Given the description of an element on the screen output the (x, y) to click on. 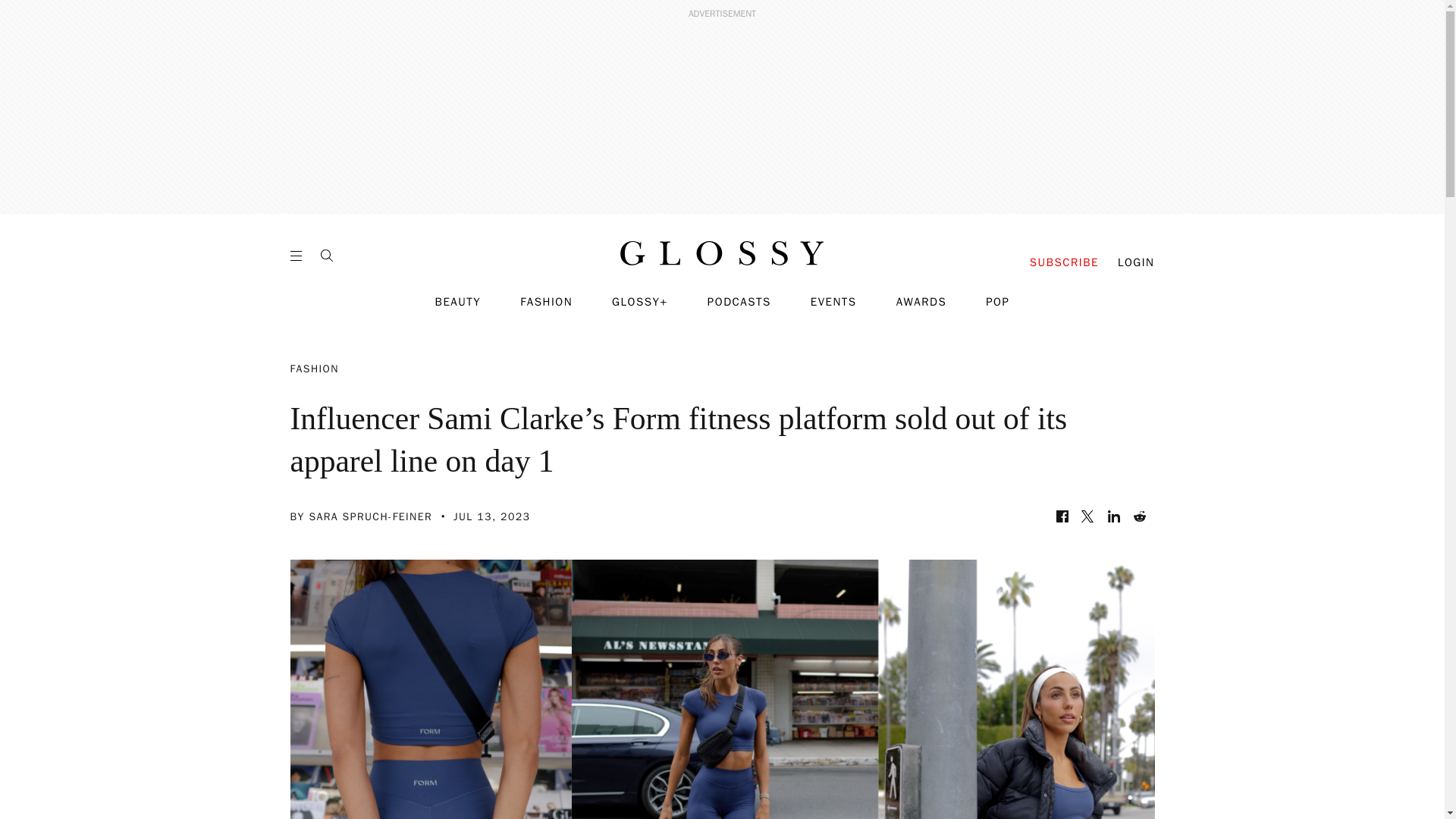
EVENTS (833, 301)
POP (997, 301)
LOGIN (1136, 262)
PODCASTS (739, 301)
AWARDS (921, 301)
SUBSCRIBE (1064, 262)
BEAUTY (458, 301)
FASHION (545, 301)
